Given the description of an element on the screen output the (x, y) to click on. 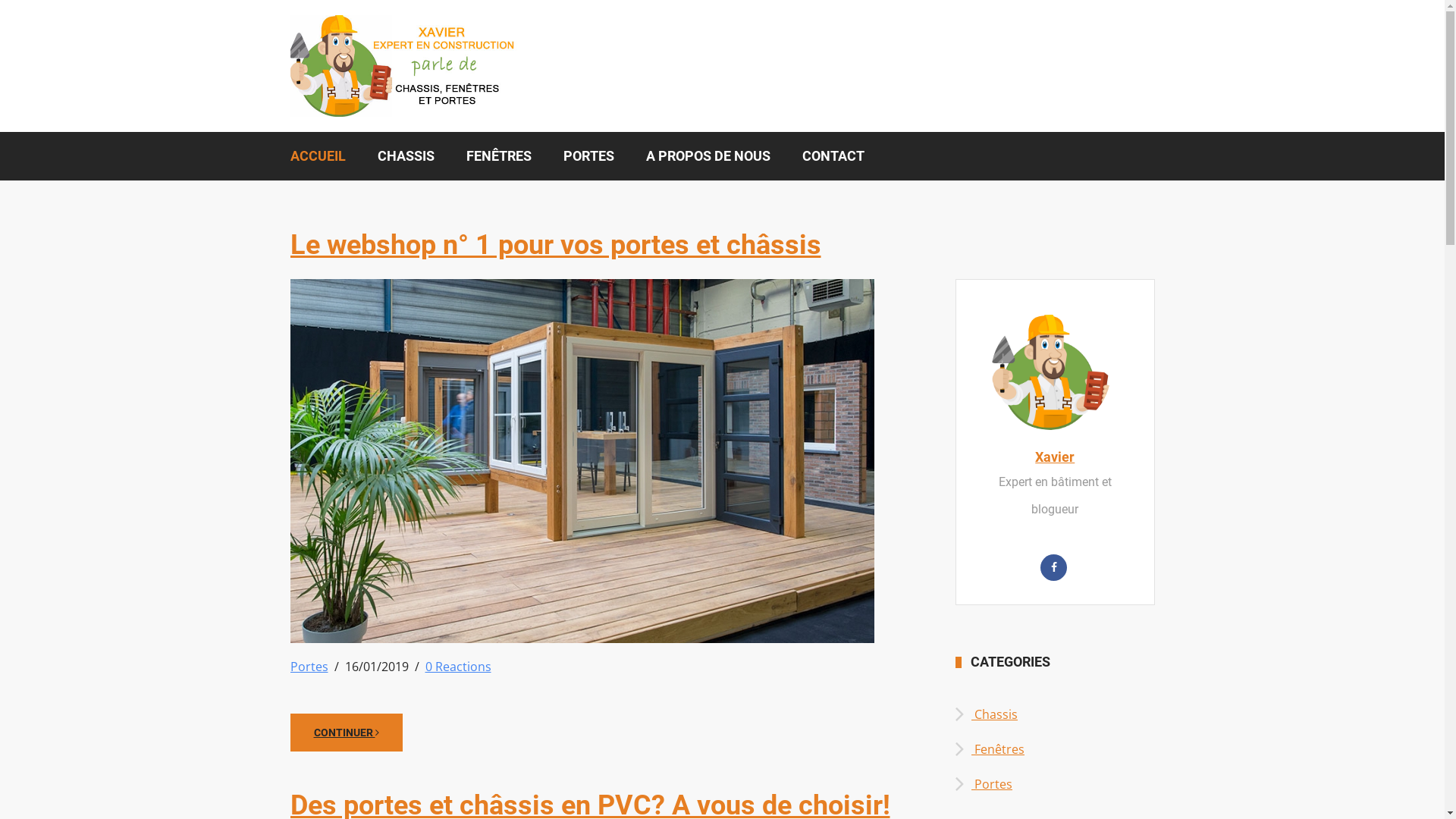
Chassis Element type: text (986, 714)
ACCUEIL Element type: text (324, 155)
Xavier Element type: text (1054, 456)
Xavier, l'expert en construction Element type: hover (1050, 371)
A PROPOS DE NOUS Element type: text (707, 155)
PORTES Element type: text (588, 155)
CHASSIS Element type: text (404, 155)
0 Reactions Element type: text (457, 666)
facebook Element type: hover (1053, 567)
Portes Element type: text (983, 783)
Portes Element type: text (308, 666)
CONTINUER Element type: text (345, 732)
CONTACT Element type: text (832, 155)
